Given the description of an element on the screen output the (x, y) to click on. 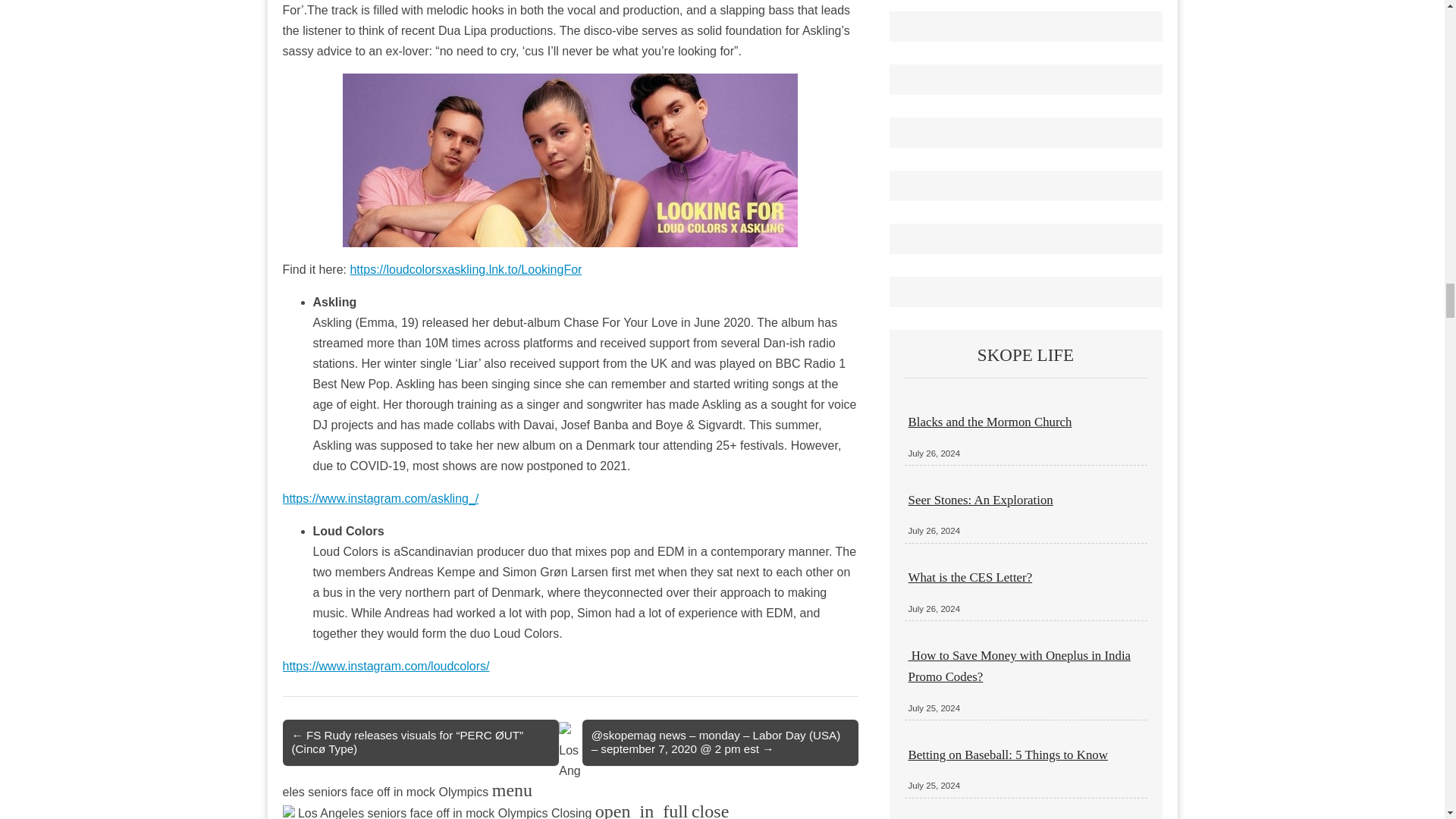
Betting on Baseball: 5 Things to Know (1008, 754)
Blacks and the Mormon Church (989, 421)
Seer Stones: An Exploration (980, 499)
 How to Save Money with Oneplus in India Promo Codes? (1019, 665)
What is the CES Letter? (970, 577)
